Given the description of an element on the screen output the (x, y) to click on. 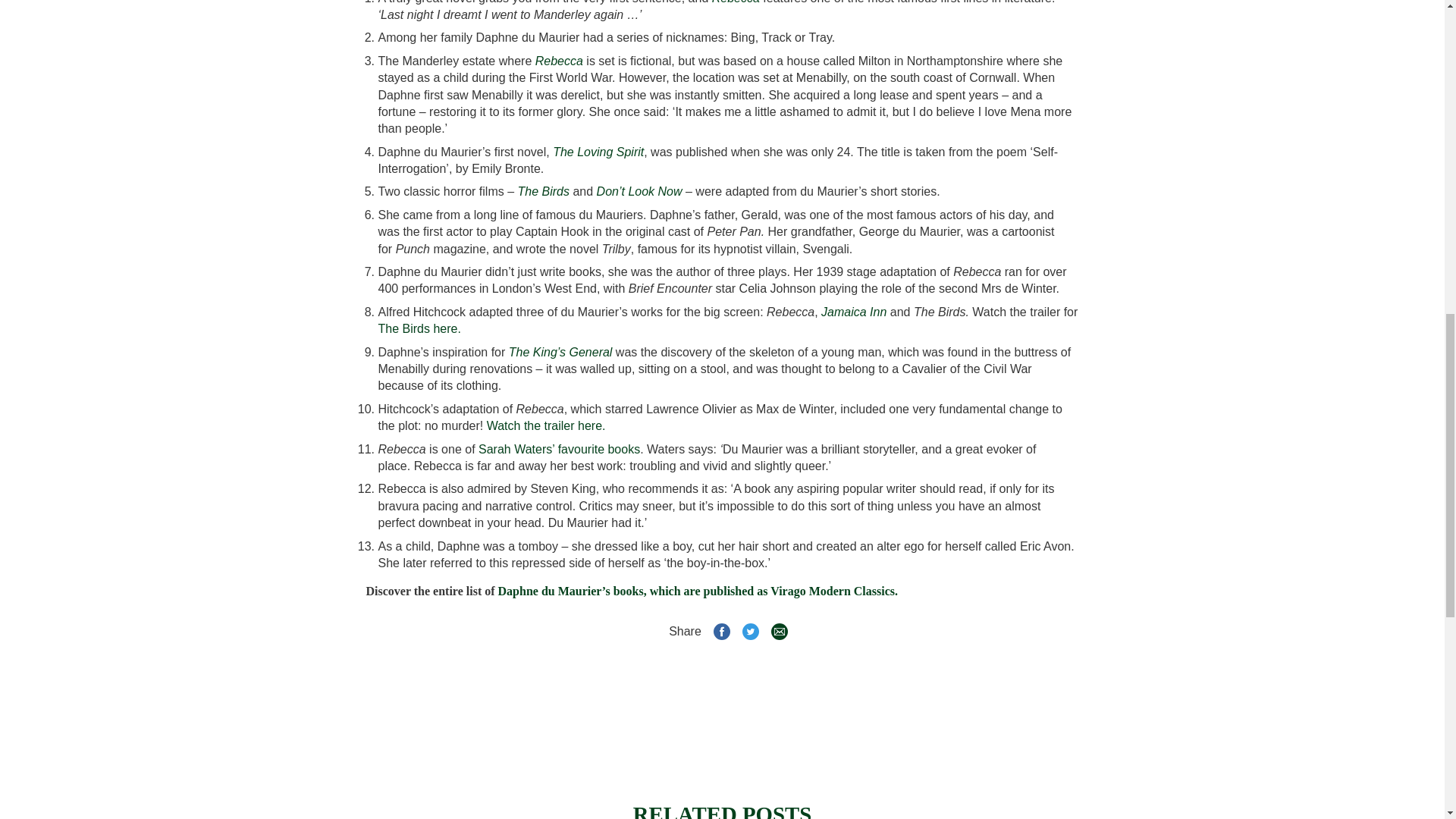
The Birds (543, 191)
Rebecca (559, 60)
The Loving Spirit (598, 151)
Rebecca (735, 2)
